Given the description of an element on the screen output the (x, y) to click on. 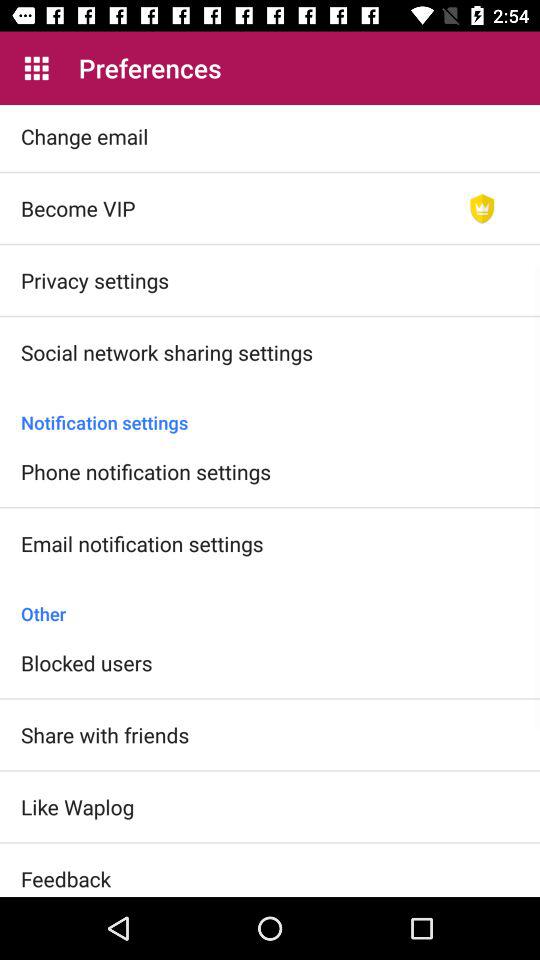
choose the item below other (86, 662)
